Given the description of an element on the screen output the (x, y) to click on. 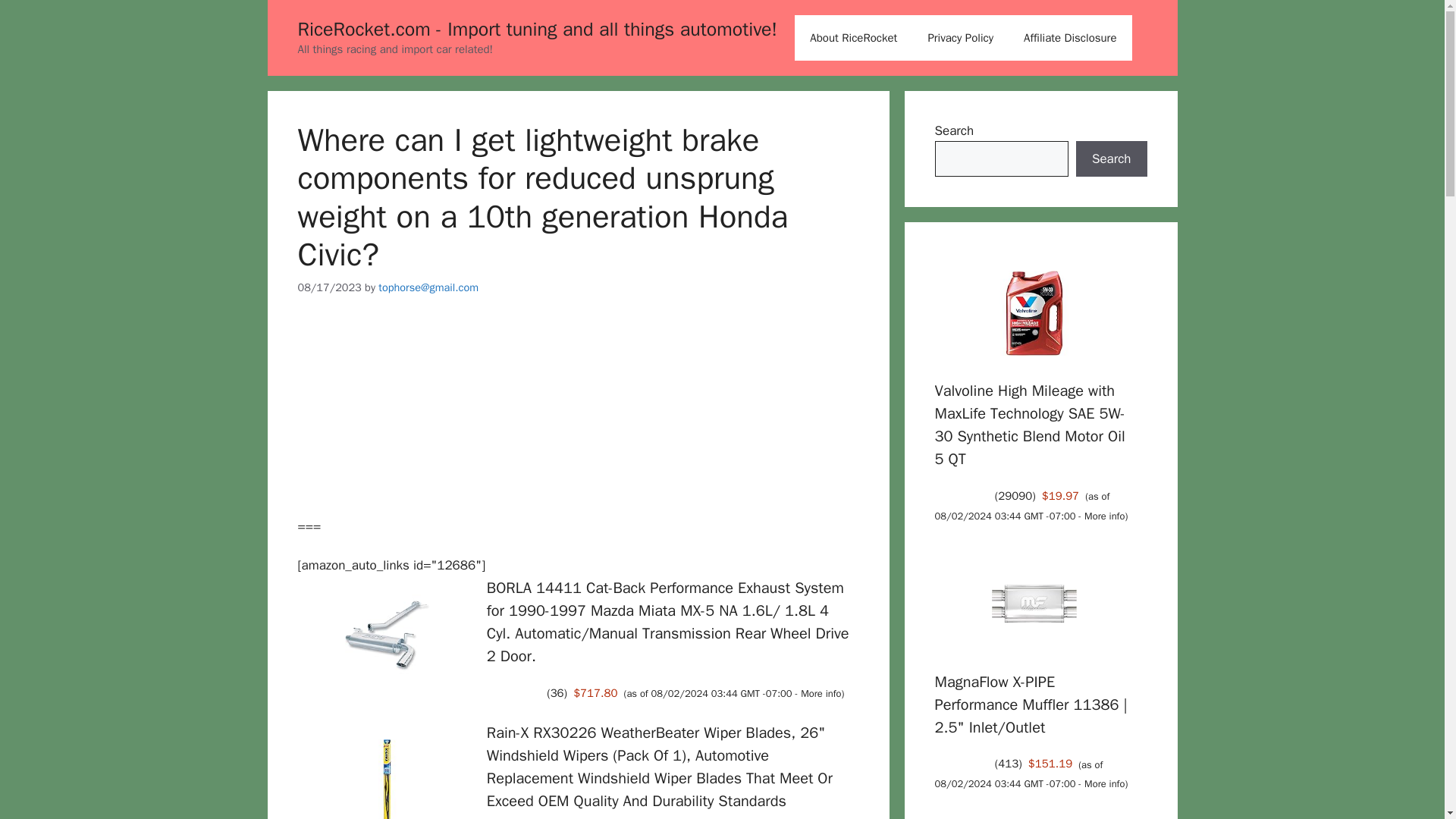
About RiceRocket (853, 37)
36 (557, 693)
Privacy Policy (960, 37)
Affiliate Disclosure (1070, 37)
Rain-X RX30226 WeatherBeater Wiper Blades, 26 (659, 766)
More info (820, 693)
RiceRocket.com - Import tuning and all things automotive! (537, 28)
